Given the description of an element on the screen output the (x, y) to click on. 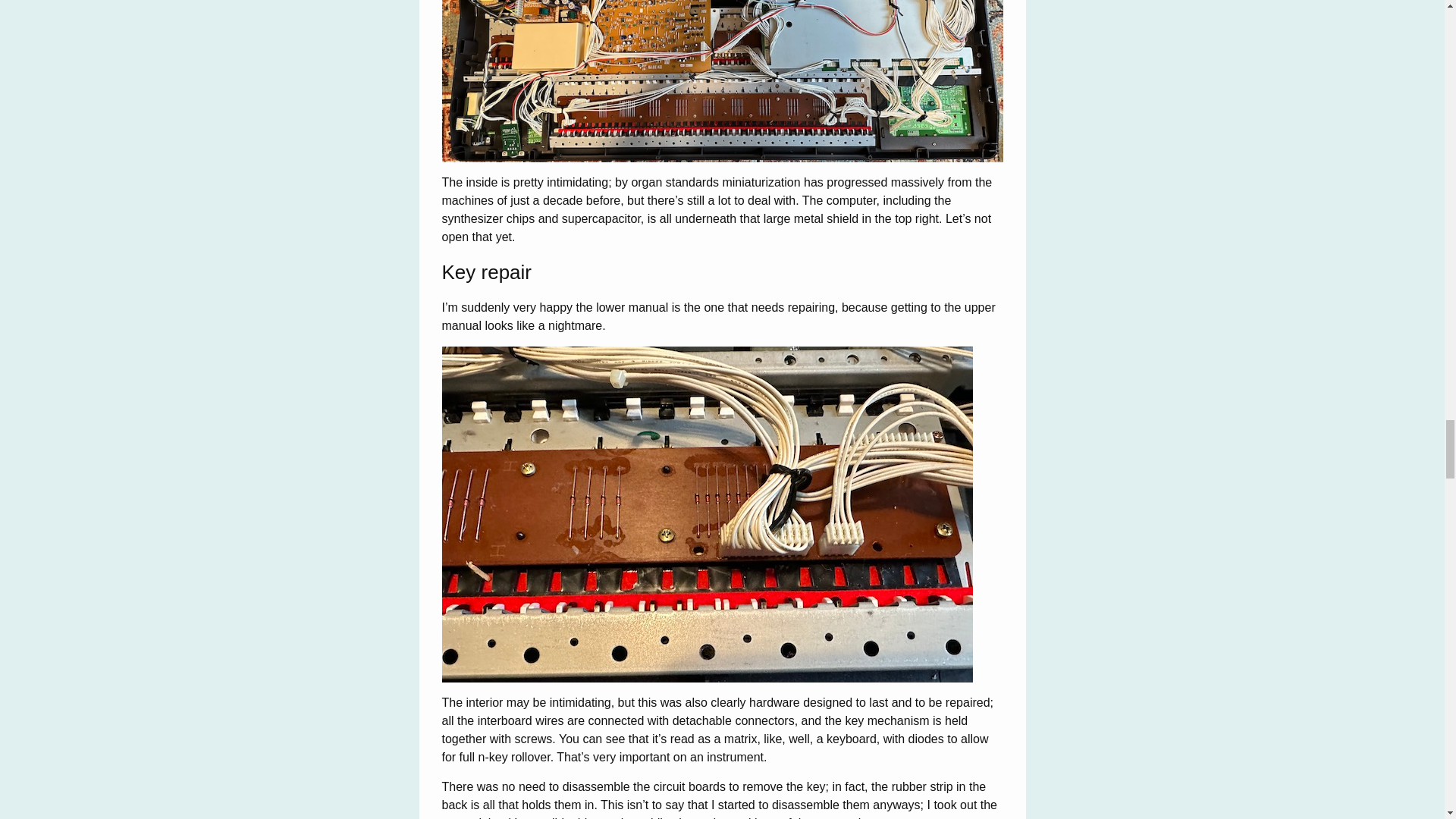
intimidating (722, 81)
